Given the description of an element on the screen output the (x, y) to click on. 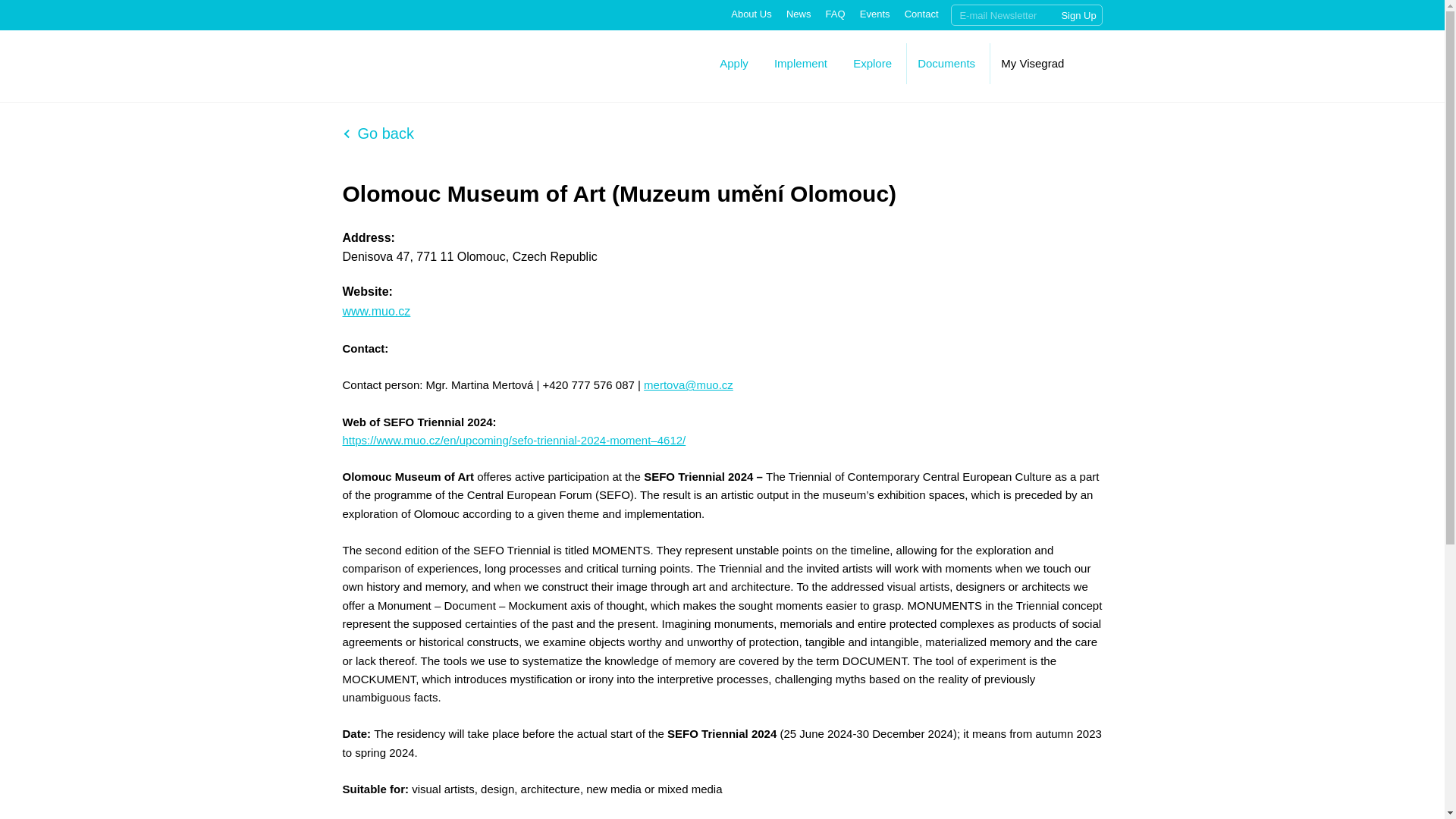
Contact (921, 13)
Sign Up (1078, 14)
Sign Up (1078, 14)
Implement (800, 62)
Documents (946, 62)
About Us (750, 13)
News (798, 13)
FAQ (835, 13)
Apply (733, 62)
Events (874, 13)
Explore (872, 62)
My Visegrad (1032, 62)
